Given the description of an element on the screen output the (x, y) to click on. 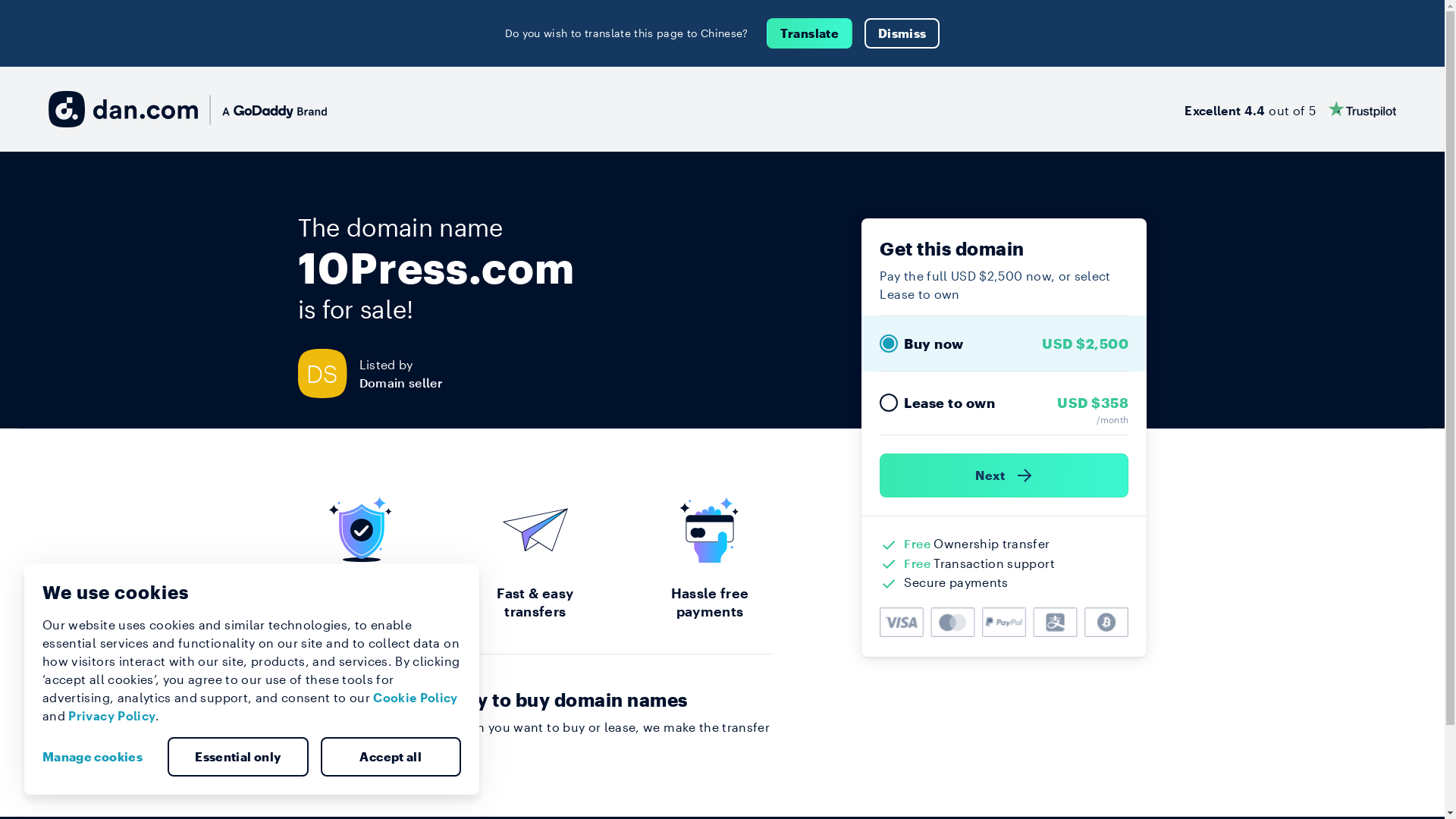
Accept all Element type: text (390, 756)
Manage cookies Element type: text (98, 756)
Translate Element type: text (809, 33)
Privacy Policy Element type: text (111, 715)
Next
) Element type: text (1003, 475)
Essential only Element type: text (237, 756)
Excellent 4.4 out of 5 Element type: text (1290, 109)
Cookie Policy Element type: text (415, 697)
Dismiss Element type: text (901, 33)
